Given the description of an element on the screen output the (x, y) to click on. 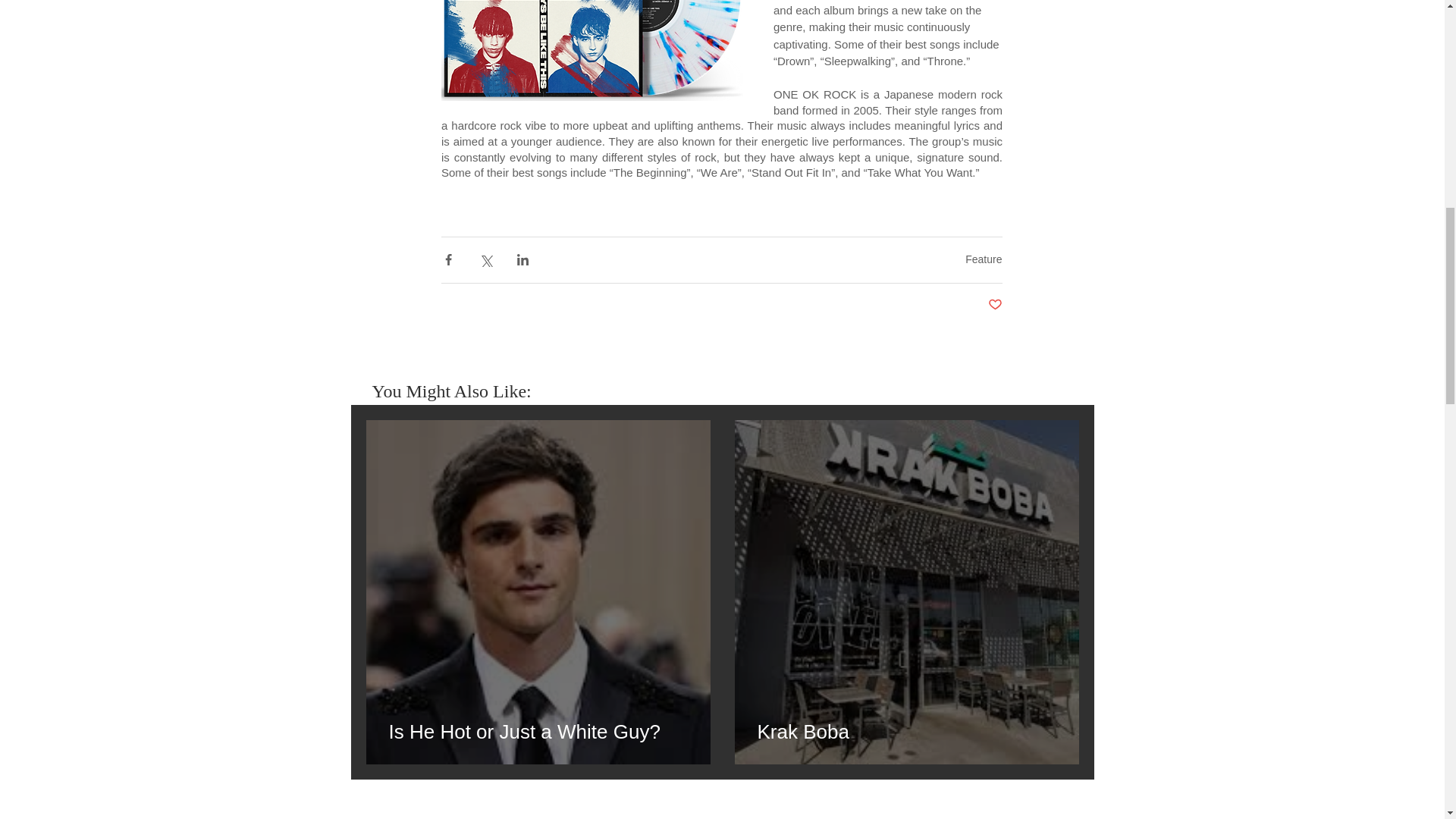
Feature (983, 259)
Krak Boba (906, 731)
Is He Hot or Just a White Guy? (537, 731)
Post not marked as liked (994, 304)
